Given the description of an element on the screen output the (x, y) to click on. 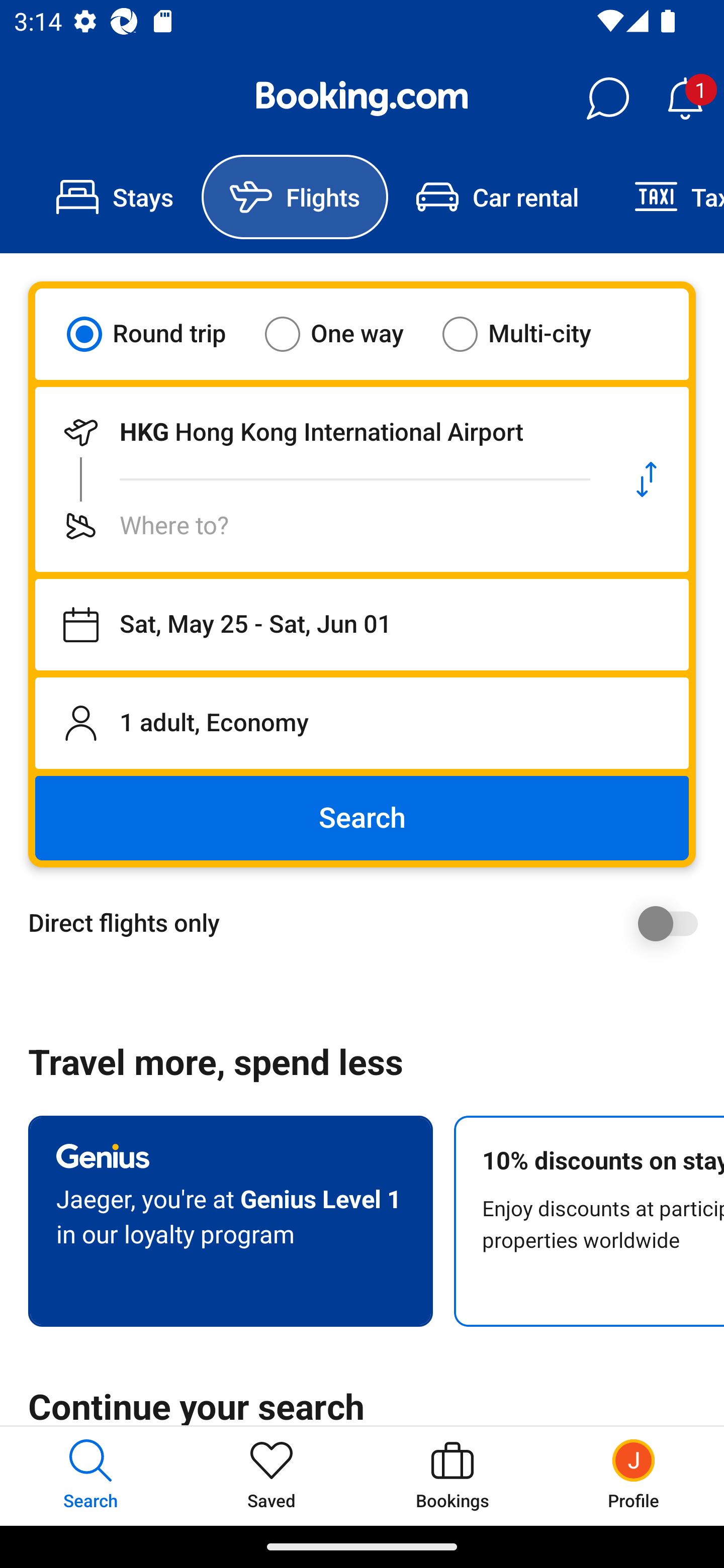
Messages (607, 98)
Notifications (685, 98)
Stays (114, 197)
Flights (294, 197)
Car rental (497, 197)
Taxi (665, 197)
One way (346, 333)
Multi-city (528, 333)
Departing from HKG Hong Kong International Airport (319, 432)
Swap departure location and destination (646, 479)
Flying to  (319, 525)
Departing on Sat, May 25, returning on Sat, Jun 01 (361, 624)
1 adult, Economy (361, 722)
Search (361, 818)
Direct flights only (369, 923)
Saved (271, 1475)
Bookings (452, 1475)
Profile (633, 1475)
